Given the description of an element on the screen output the (x, y) to click on. 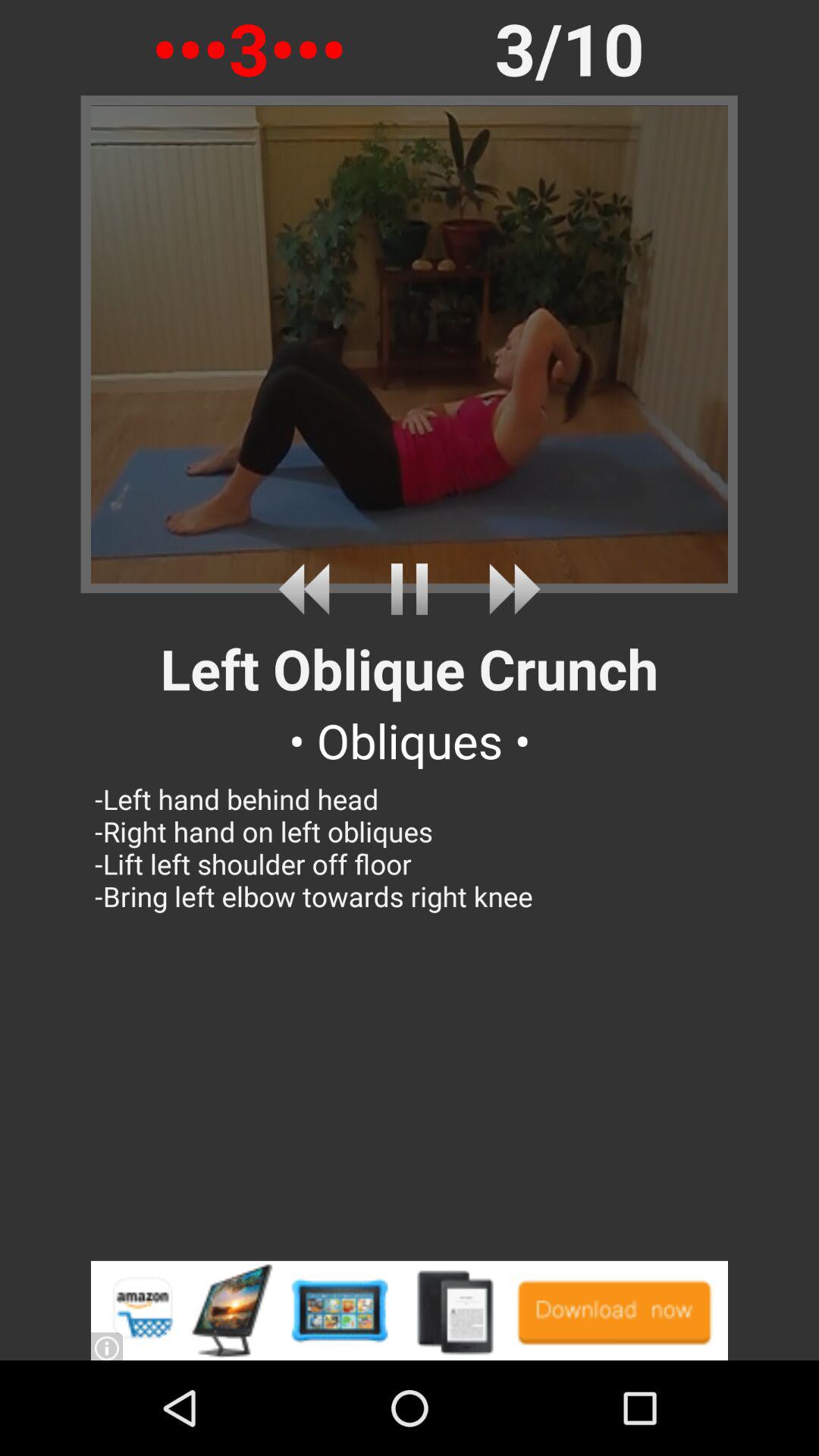
pause exercise (409, 589)
